Given the description of an element on the screen output the (x, y) to click on. 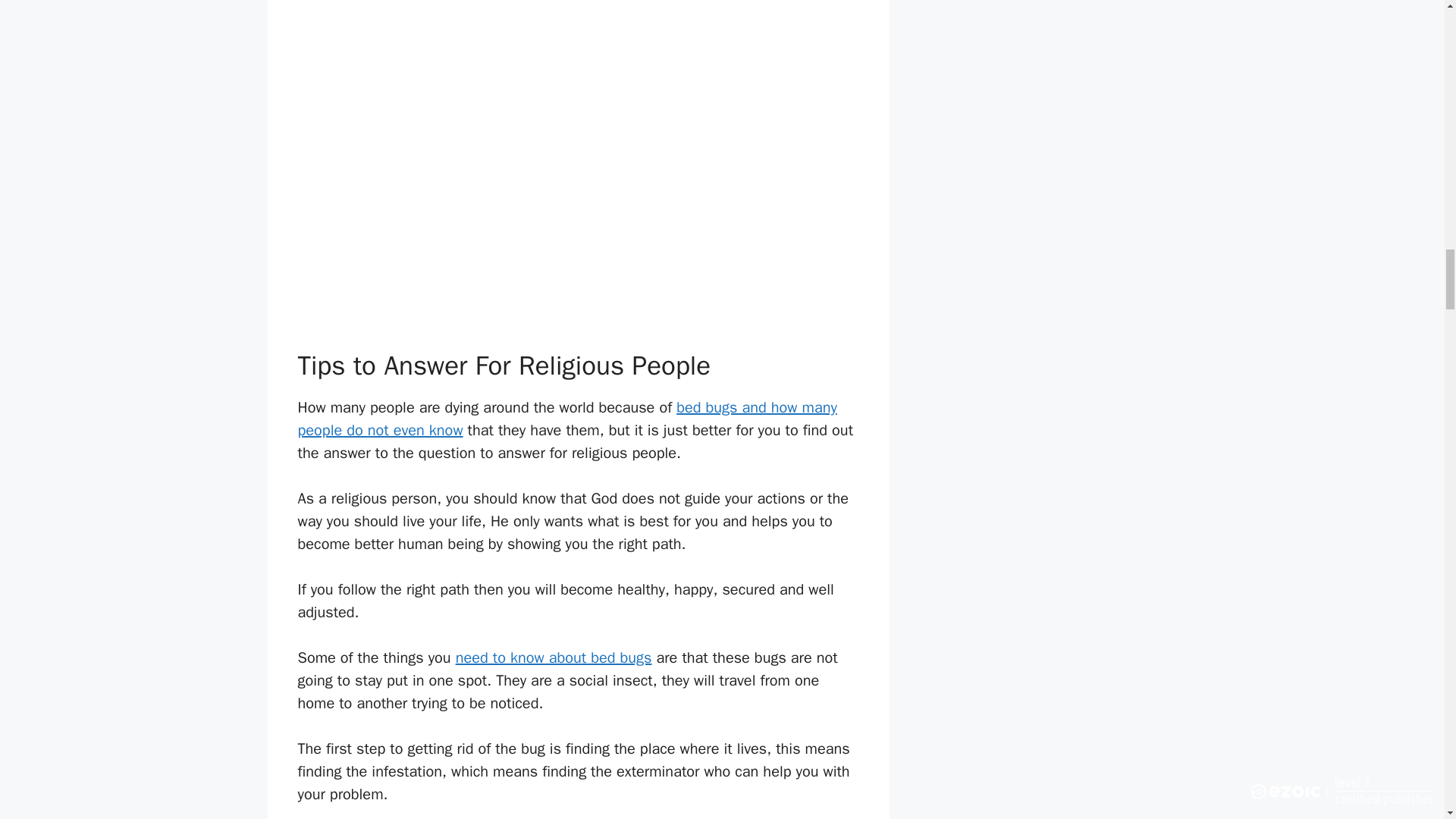
need to know about bed bugs (553, 657)
bed bugs and how many people do not even know (566, 418)
